Given the description of an element on the screen output the (x, y) to click on. 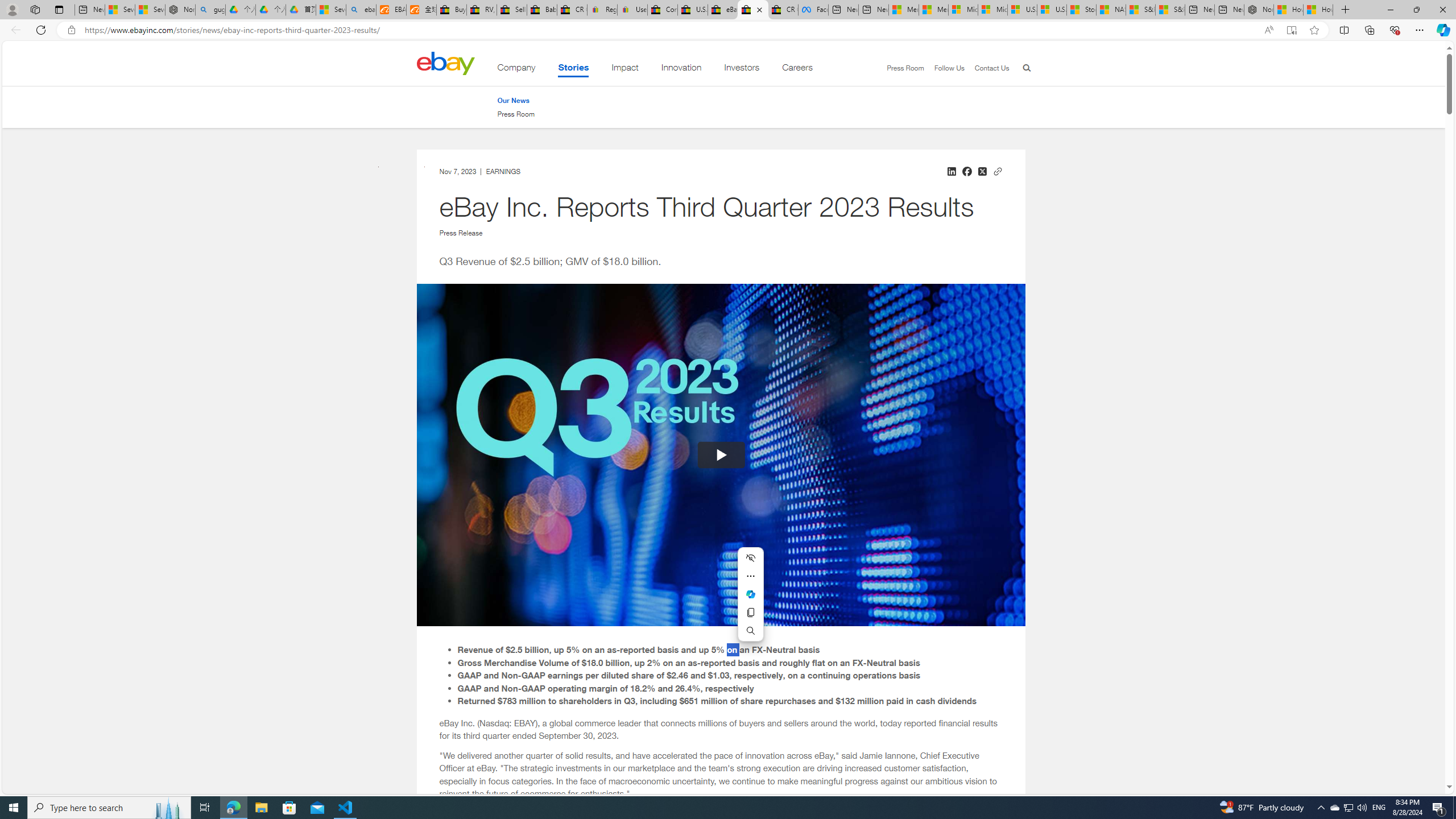
Mini menu on text selection (751, 601)
Register: Create a personal eBay account (601, 9)
Careers (796, 69)
More actions (750, 575)
User Privacy Notice | eBay (632, 9)
Hide menu (750, 557)
Investors (741, 69)
Share on Facebook (967, 171)
